Given the description of an element on the screen output the (x, y) to click on. 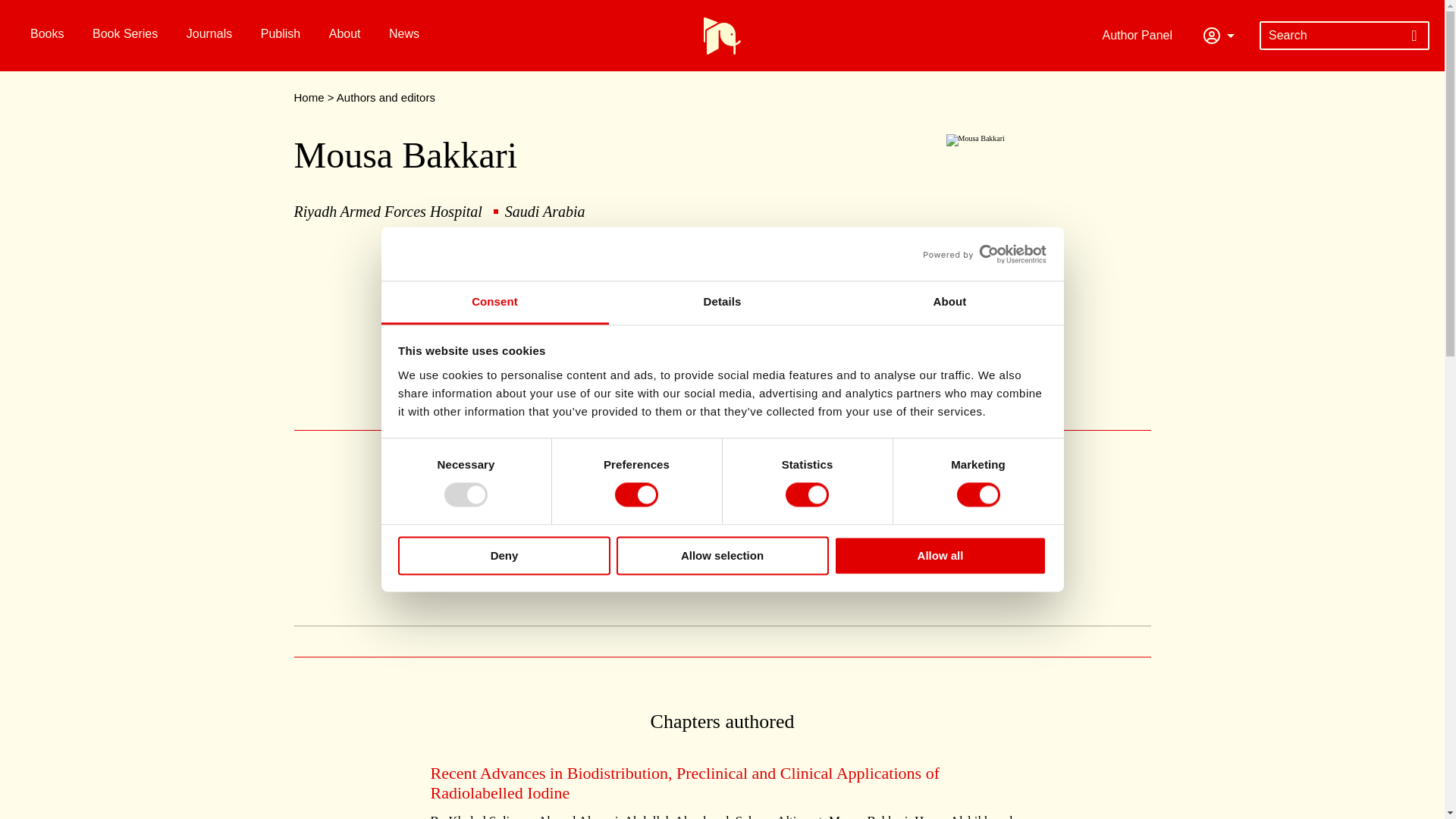
About (948, 302)
Details (721, 302)
Consent (494, 302)
